Given the description of an element on the screen output the (x, y) to click on. 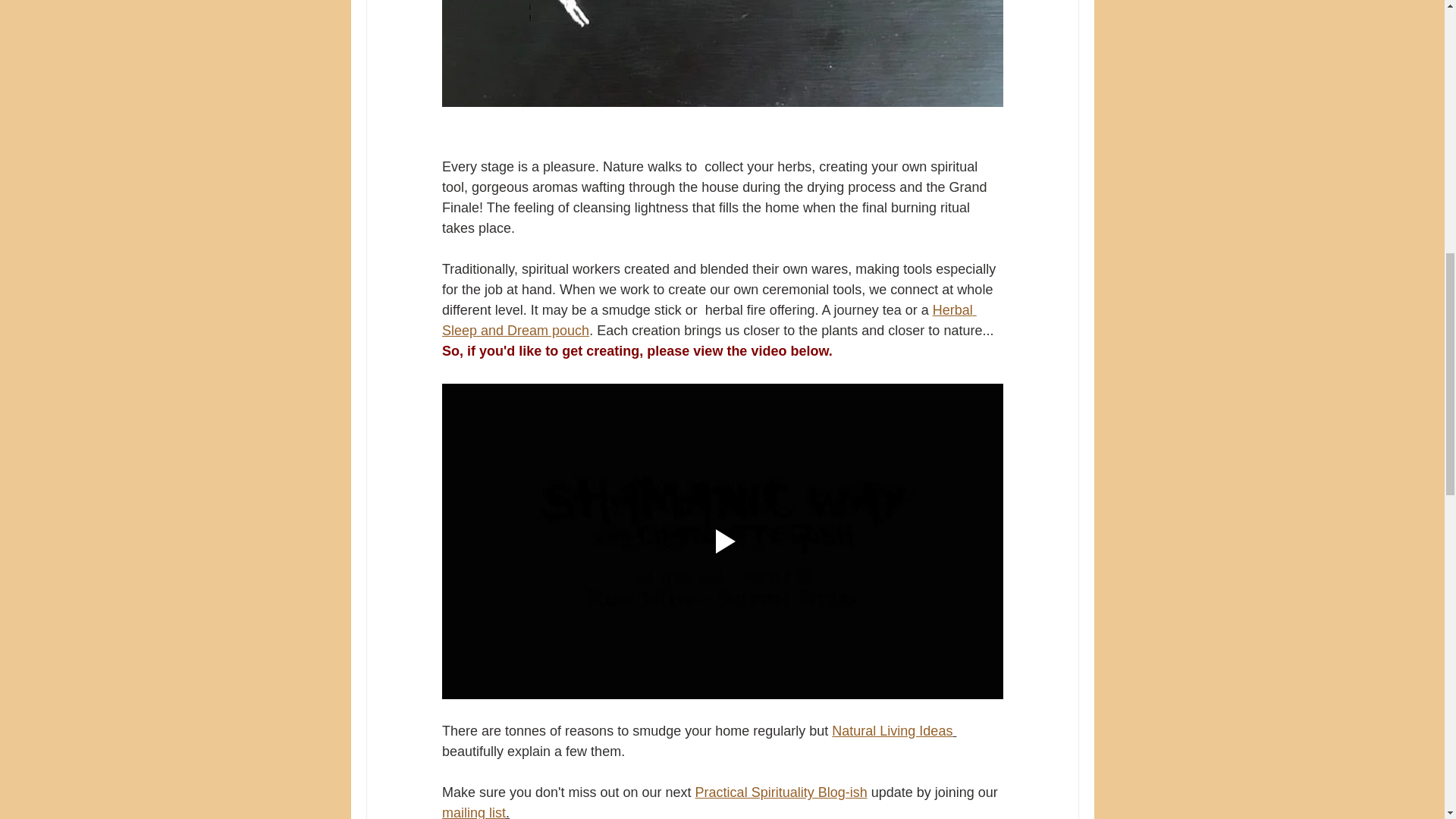
Natural Living Ideas (891, 730)
mailing list (473, 812)
Herbal Sleep and Dream pouch (708, 320)
Practical Spirituality Blog-ish (780, 792)
